Given the description of an element on the screen output the (x, y) to click on. 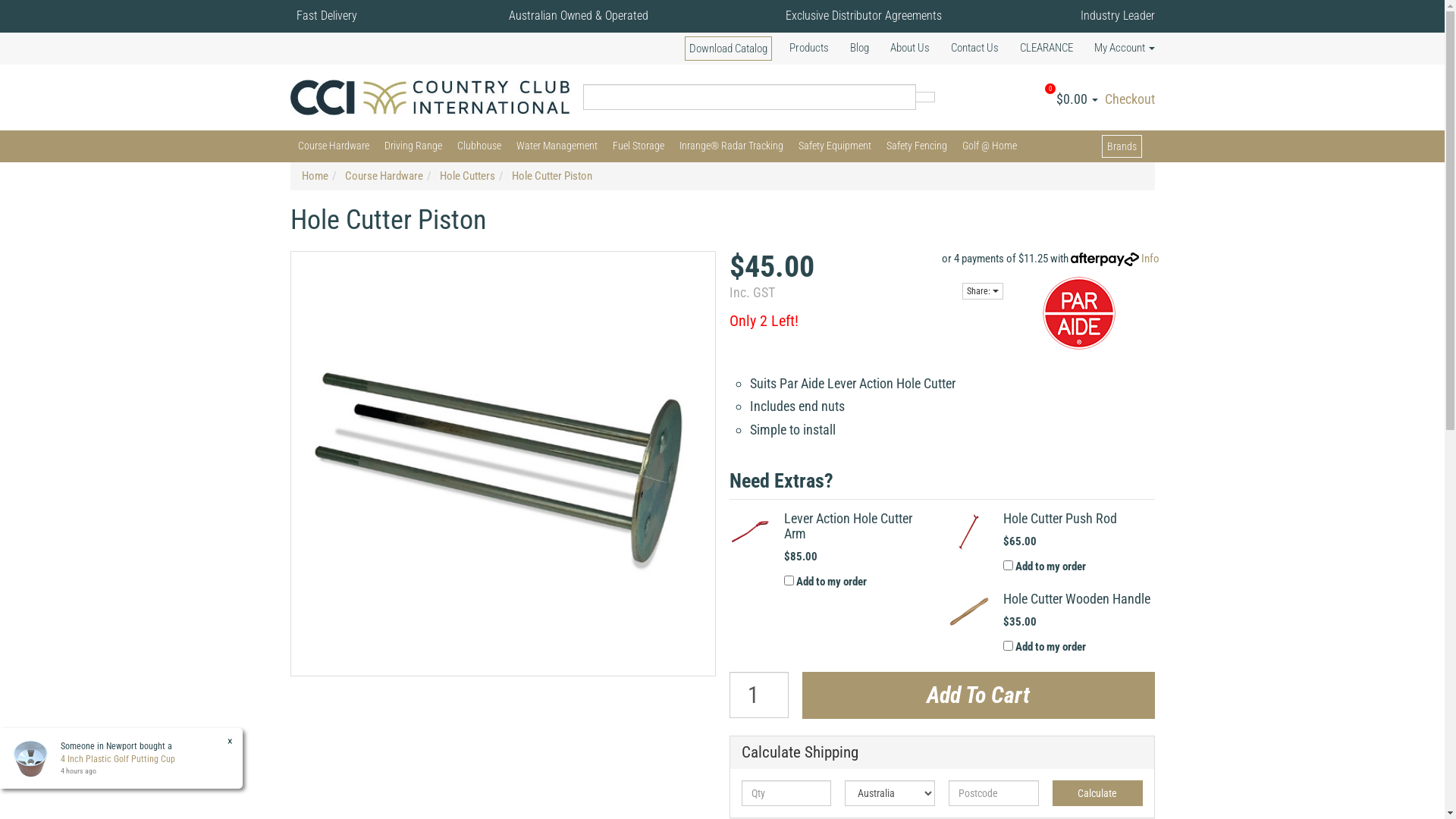
Driving Range Element type: text (412, 145)
Brands Element type: text (1121, 145)
Download Catalog Element type: text (727, 48)
Calculate Element type: text (1097, 793)
Fuel Storage Element type: text (638, 145)
Calculate Shipping Element type: text (941, 752)
About Us Element type: text (909, 47)
Hole Cutters Element type: text (467, 175)
Clubhouse Element type: text (478, 145)
Products Element type: text (808, 47)
Blog Element type: text (858, 47)
CLEARANCE Element type: text (1045, 47)
Contact Us Element type: text (974, 47)
Par Aide Element type: hover (1078, 312)
Course Hardware Element type: text (332, 145)
Safety Equipment Element type: text (834, 145)
Checkout Element type: text (1127, 98)
4 Inch Plastic Golf Putting Cup Element type: text (117, 758)
Info Element type: text (1150, 258)
My Account Element type: text (1118, 47)
Add To Cart Element type: text (978, 694)
Safety Fencing Element type: text (915, 145)
Share: Element type: text (981, 290)
Water Management Element type: text (556, 145)
Search Element type: text (925, 96)
Course Hardware Element type: text (383, 175)
Home Element type: text (314, 175)
Golf @ Home Element type: text (988, 145)
0
$0.00 Element type: text (1077, 98)
Country Club International Pty Ltd Element type: hover (428, 96)
Hole Cutter Piston Element type: text (551, 175)
